Given the description of an element on the screen output the (x, y) to click on. 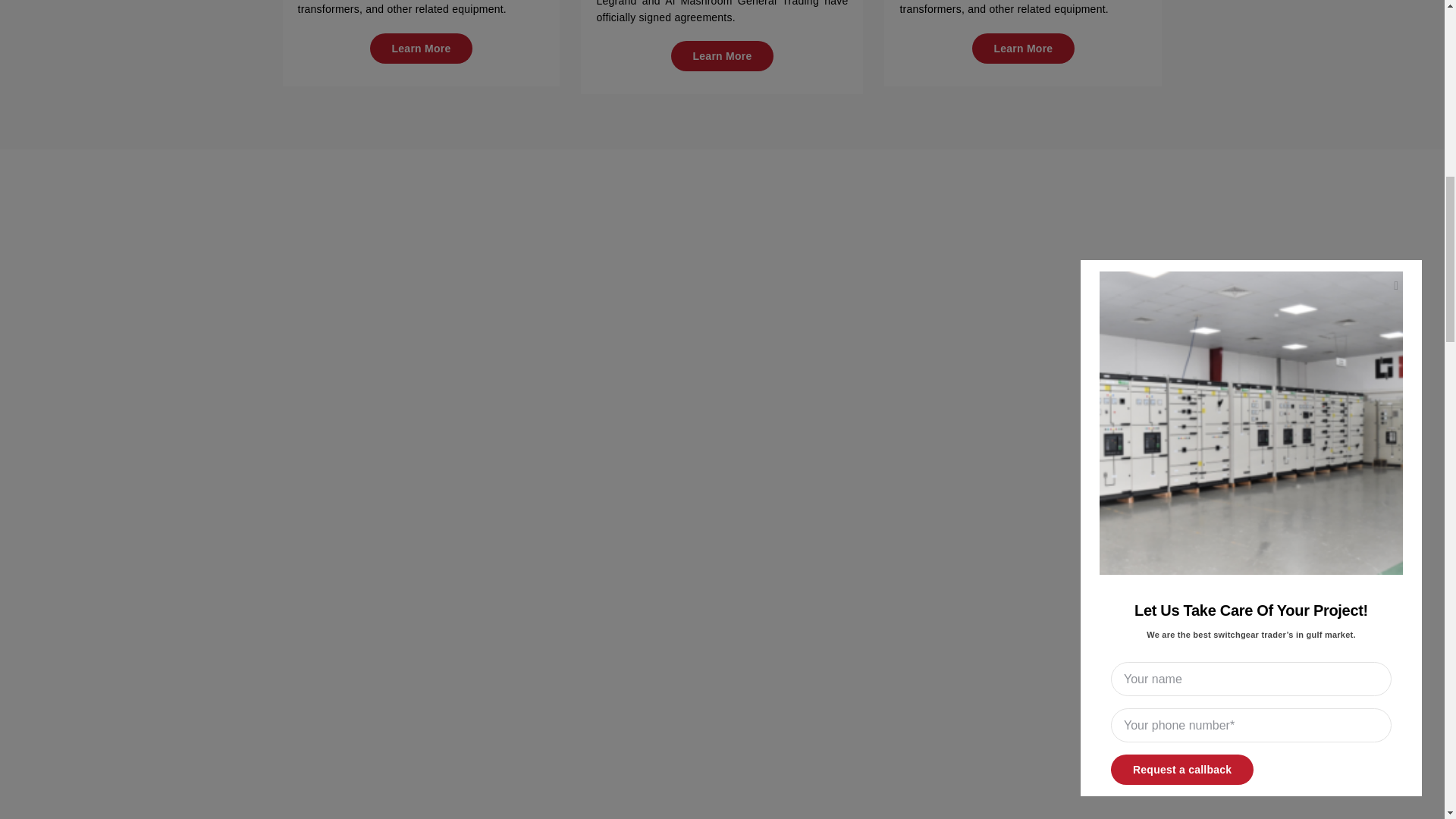
Learn More (722, 55)
Learn More (421, 48)
Learn More (1023, 48)
